Given the description of an element on the screen output the (x, y) to click on. 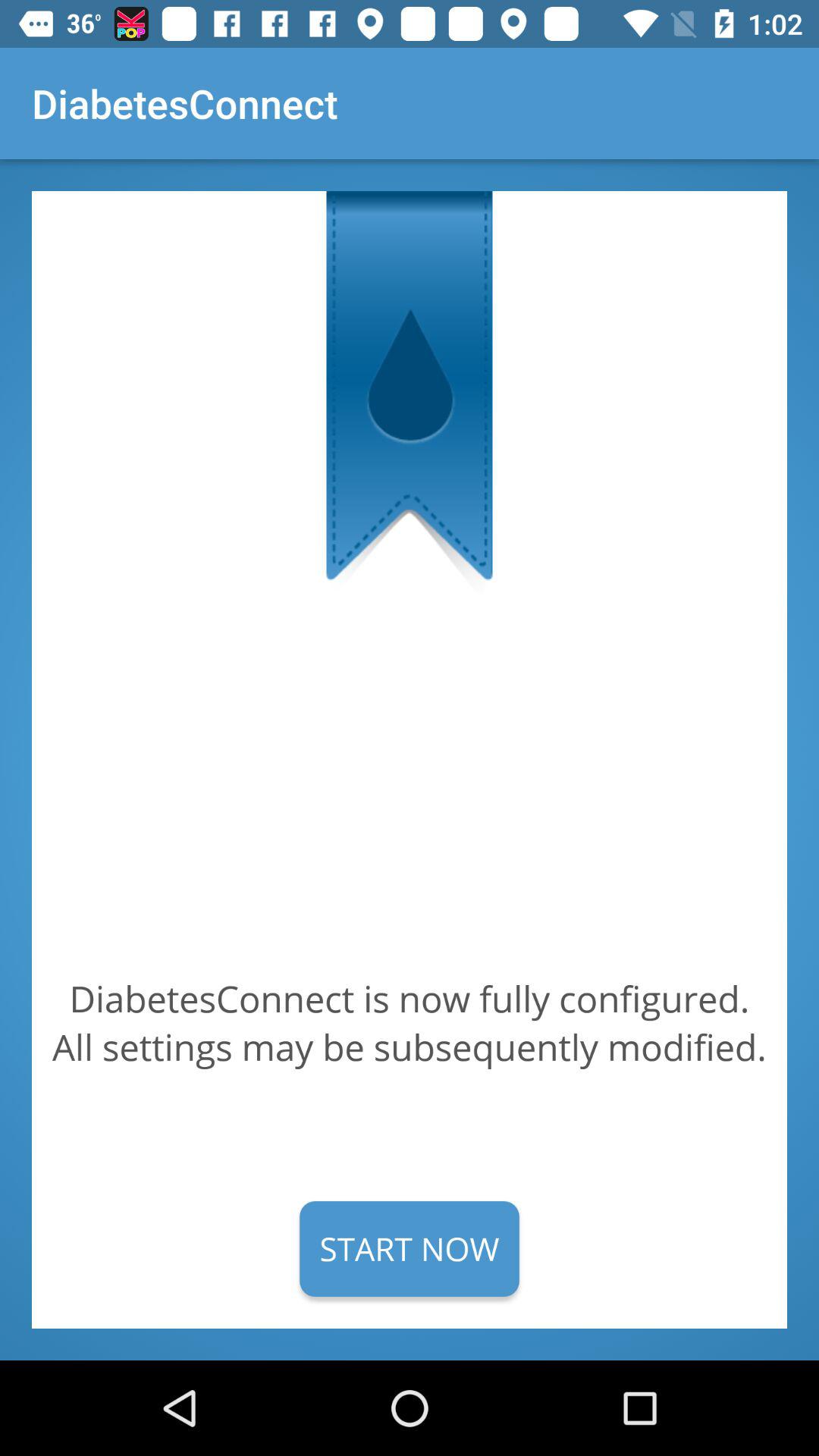
open the start now (409, 1248)
